Given the description of an element on the screen output the (x, y) to click on. 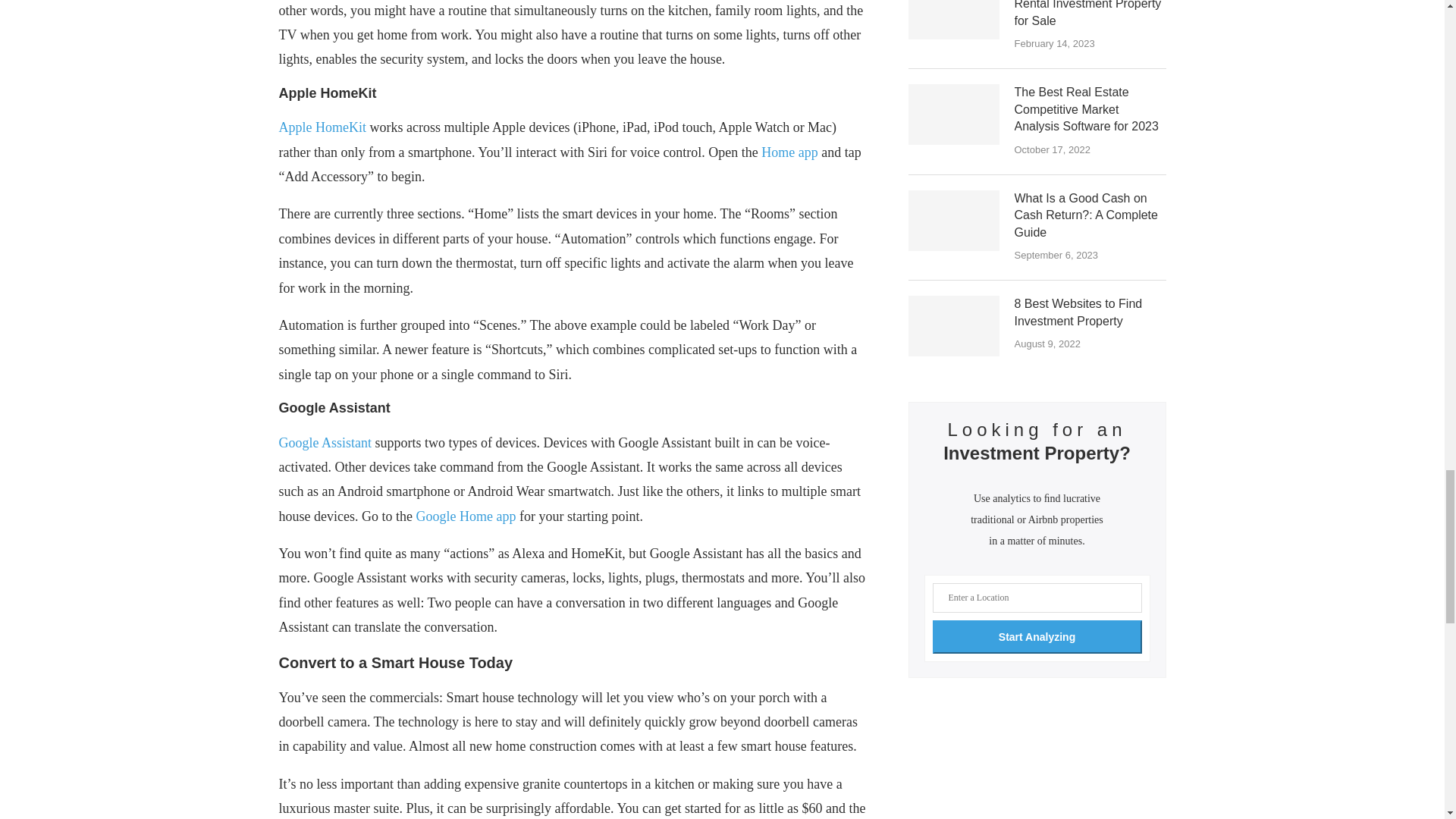
Apple HomeKit (322, 127)
Google Home app (464, 516)
Google Assistant (325, 442)
Home app (788, 151)
